Given the description of an element on the screen output the (x, y) to click on. 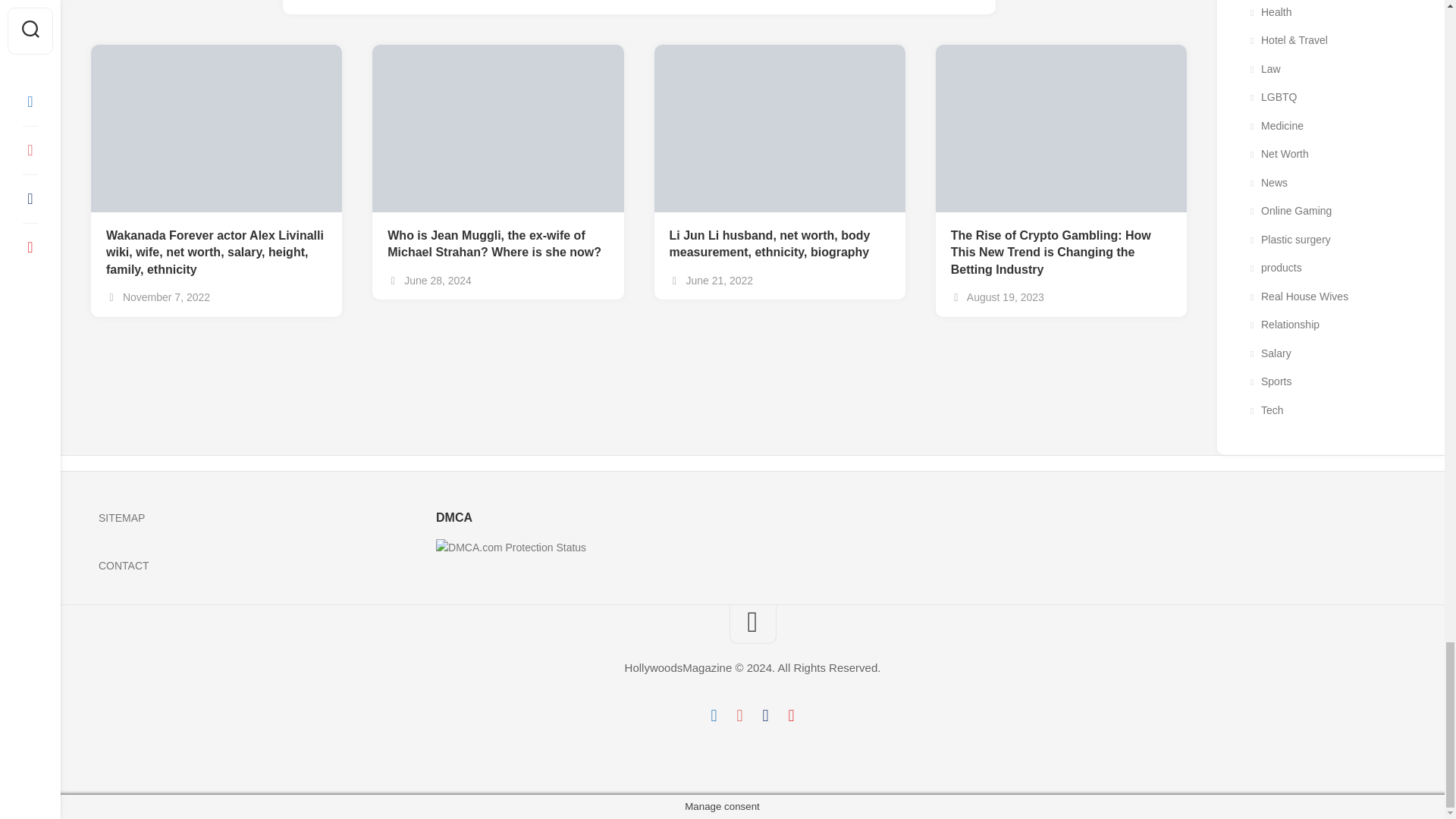
Tumblr (765, 715)
Facebook (713, 715)
Pinterest (791, 715)
Reddit (739, 715)
DMCA.com Protection Status (510, 547)
